Given the description of an element on the screen output the (x, y) to click on. 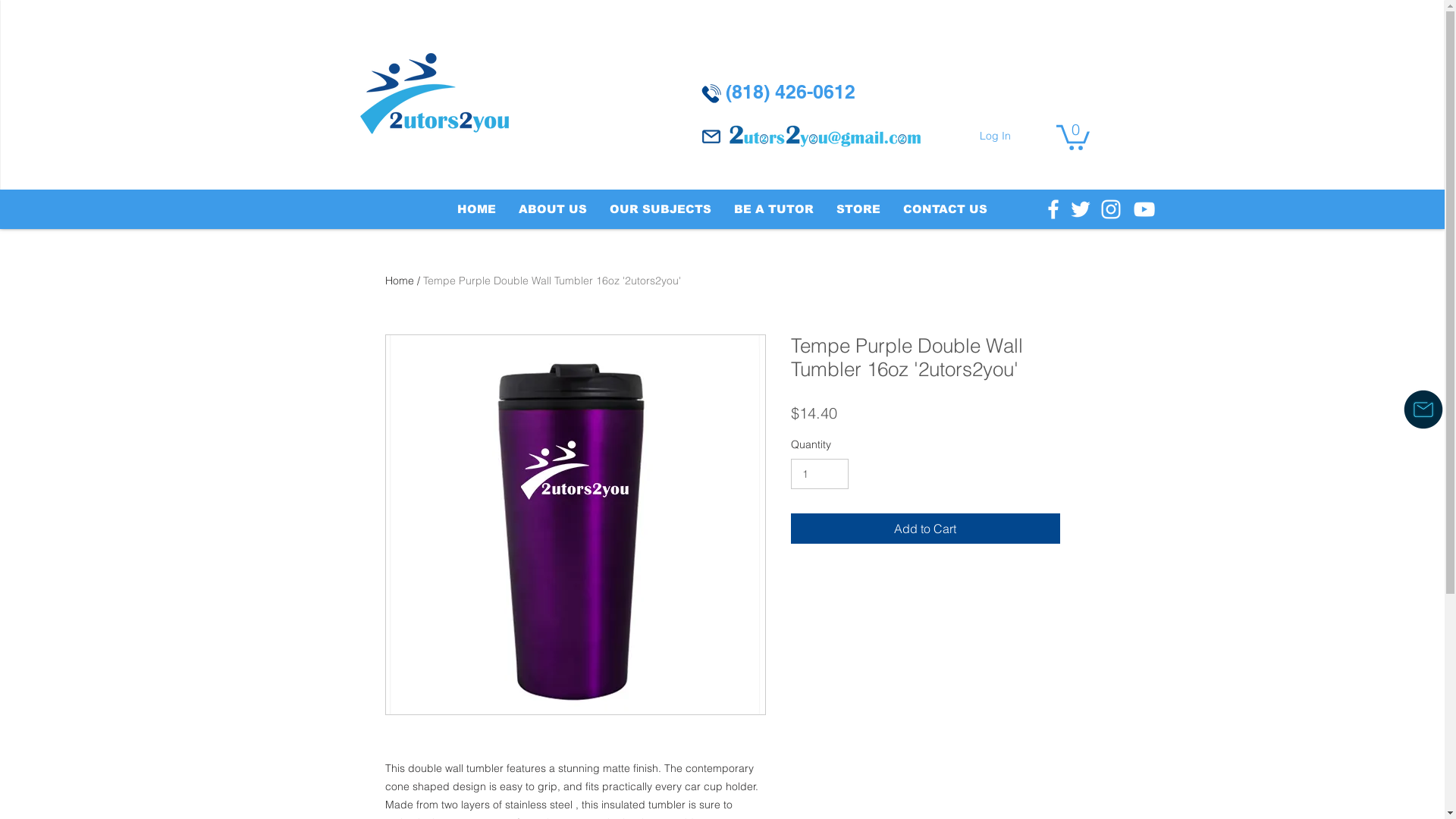
Add to Cart Element type: text (924, 528)
Tempe Purple Double Wall Tumbler 16oz '2utors2you' Element type: text (551, 280)
STORE Element type: text (858, 208)
HOME Element type: text (476, 208)
Home Element type: text (399, 280)
ABOUT US Element type: text (552, 208)
OUR SUBJECTS Element type: text (660, 208)
Log In Element type: text (995, 136)
CONTACT US Element type: text (944, 208)
BE A TUTOR Element type: text (773, 208)
0 Element type: text (1071, 136)
